Given the description of an element on the screen output the (x, y) to click on. 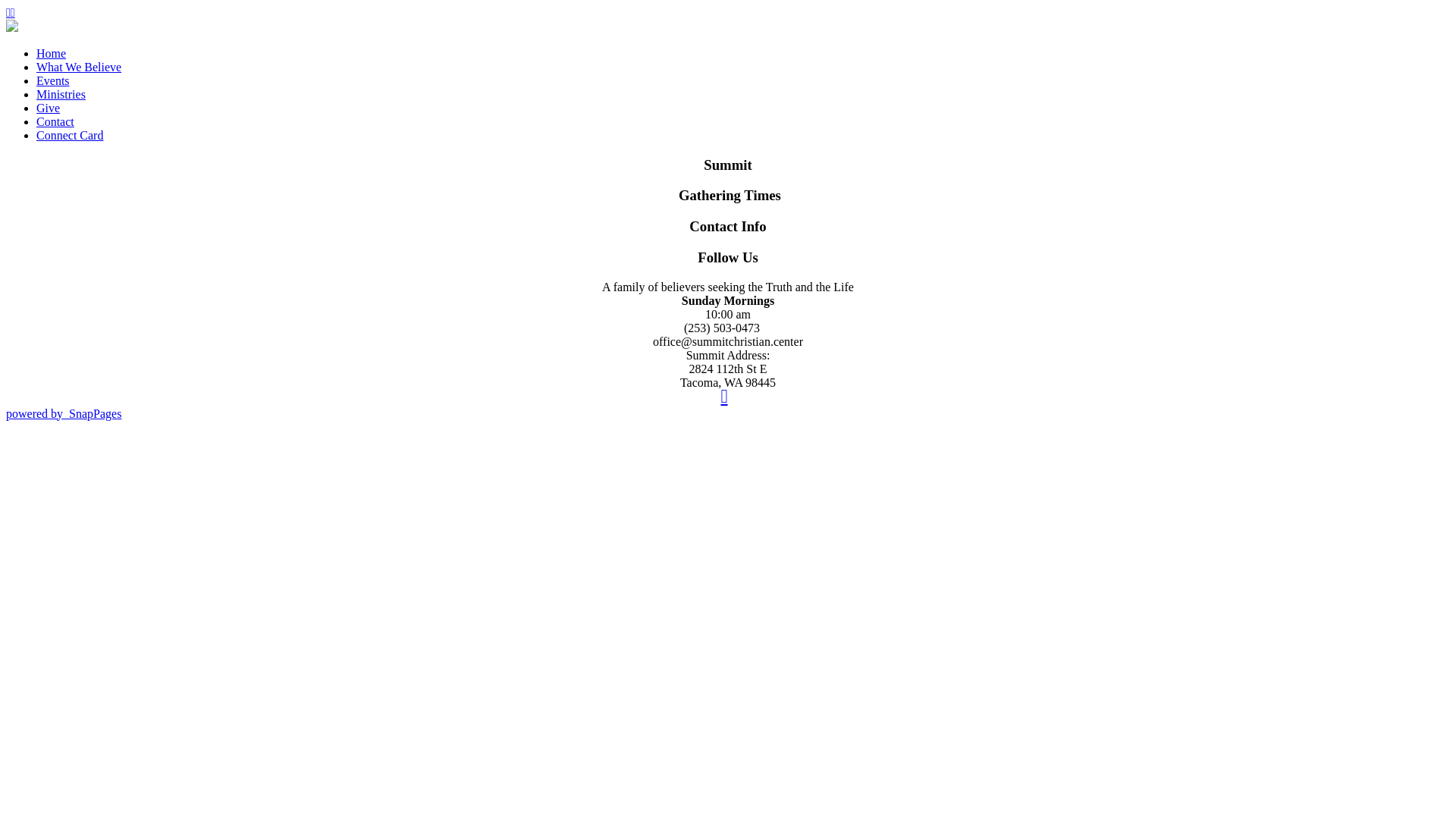
Home Element type: text (50, 53)
Contact Element type: text (55, 121)
Give Element type: text (47, 107)
Events Element type: text (52, 80)
Ministries Element type: text (60, 93)
Connect Card Element type: text (69, 134)
What We Believe Element type: text (78, 66)
powered by  SnapPages Element type: text (63, 413)
